Given the description of an element on the screen output the (x, y) to click on. 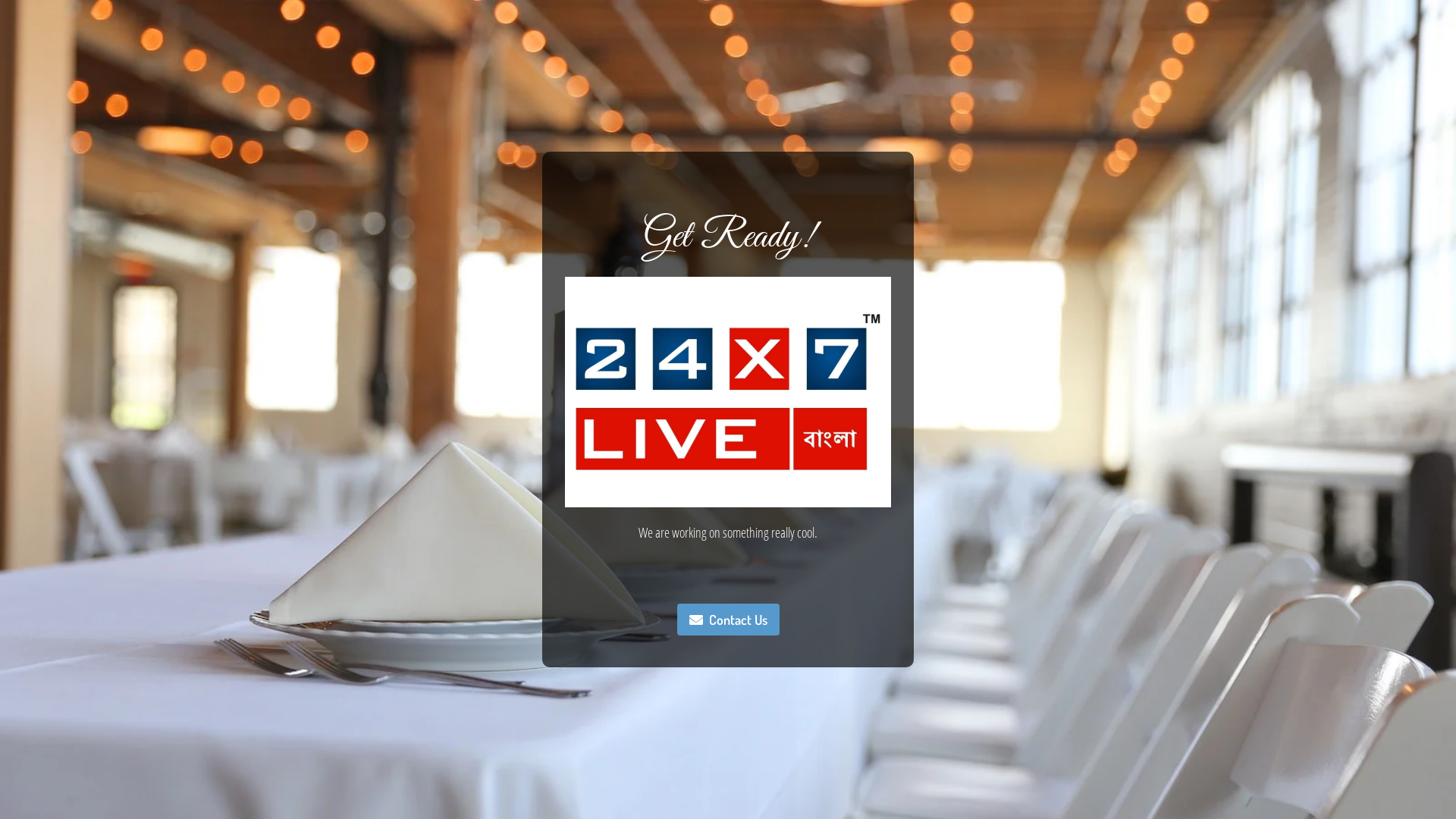
Contact Us Element type: text (727, 619)
